Given the description of an element on the screen output the (x, y) to click on. 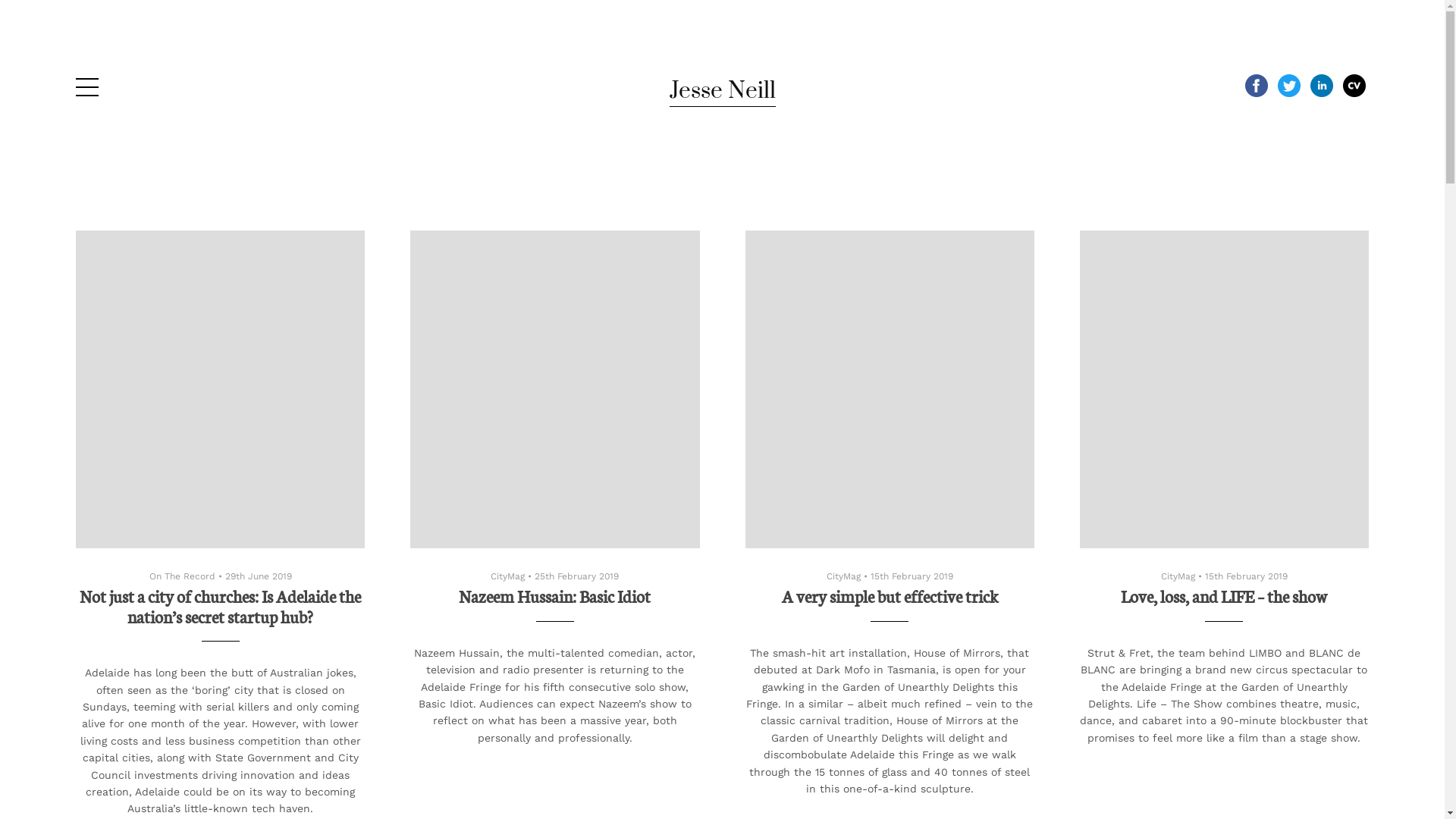
Jesse Neill Element type: text (721, 90)
